Given the description of an element on the screen output the (x, y) to click on. 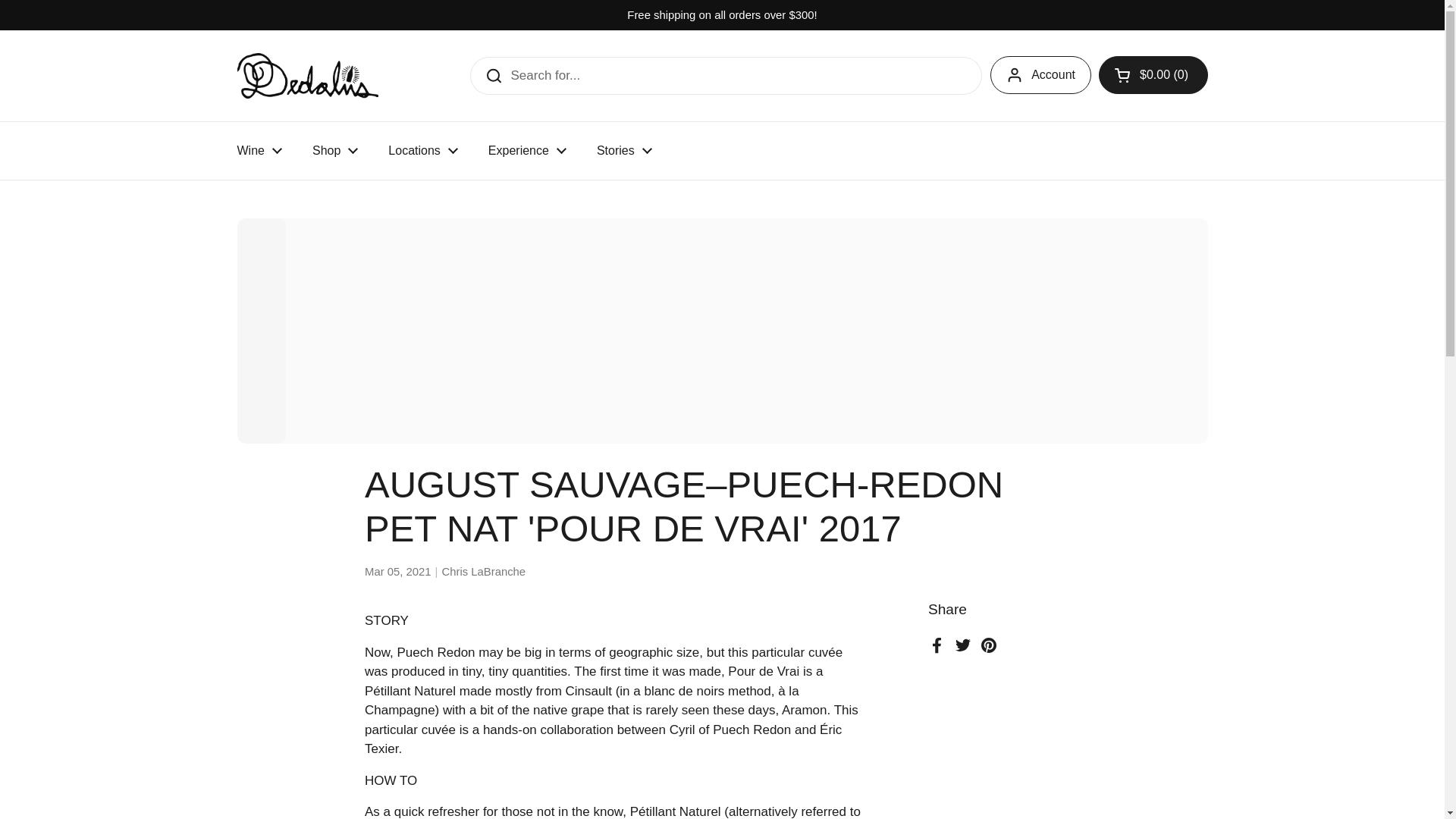
Open cart (1153, 75)
Wine (259, 150)
Dedalus Wine Shop (306, 75)
Account (1040, 75)
